Given the description of an element on the screen output the (x, y) to click on. 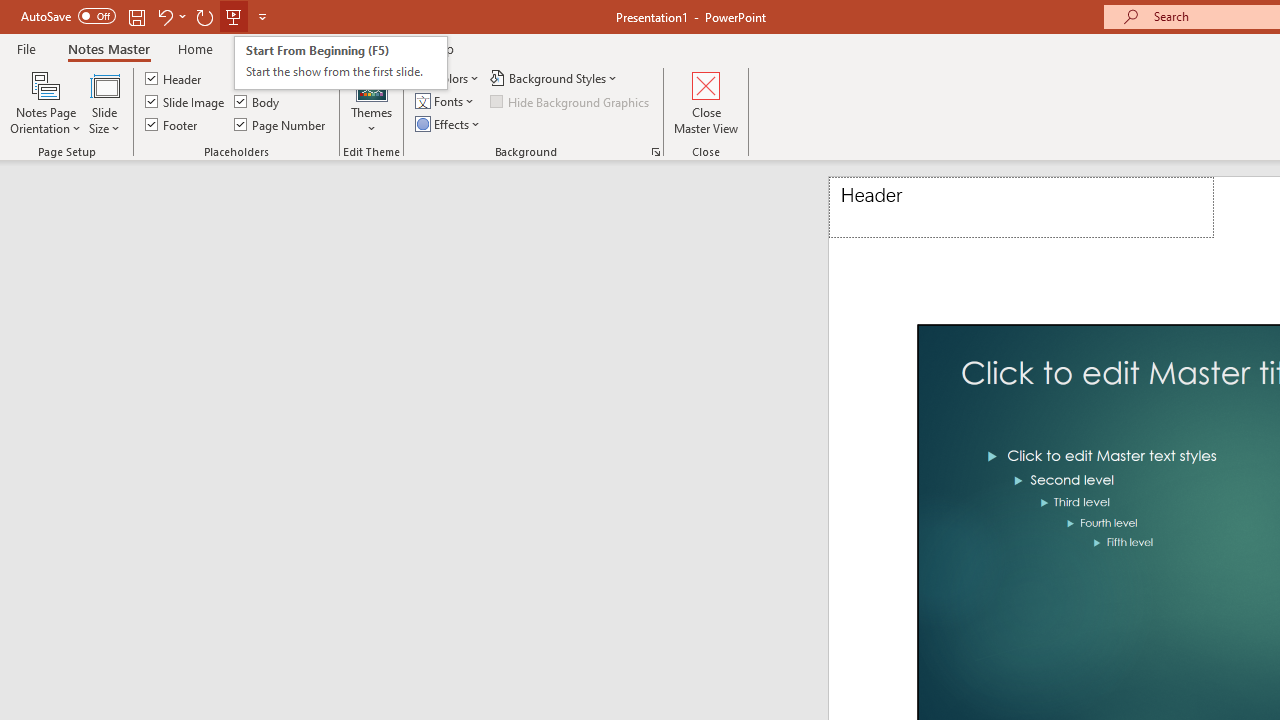
Date (256, 78)
Body (257, 101)
Format Background... (655, 151)
Colors (449, 78)
Footer (172, 124)
Slide Image (186, 101)
